Given the description of an element on the screen output the (x, y) to click on. 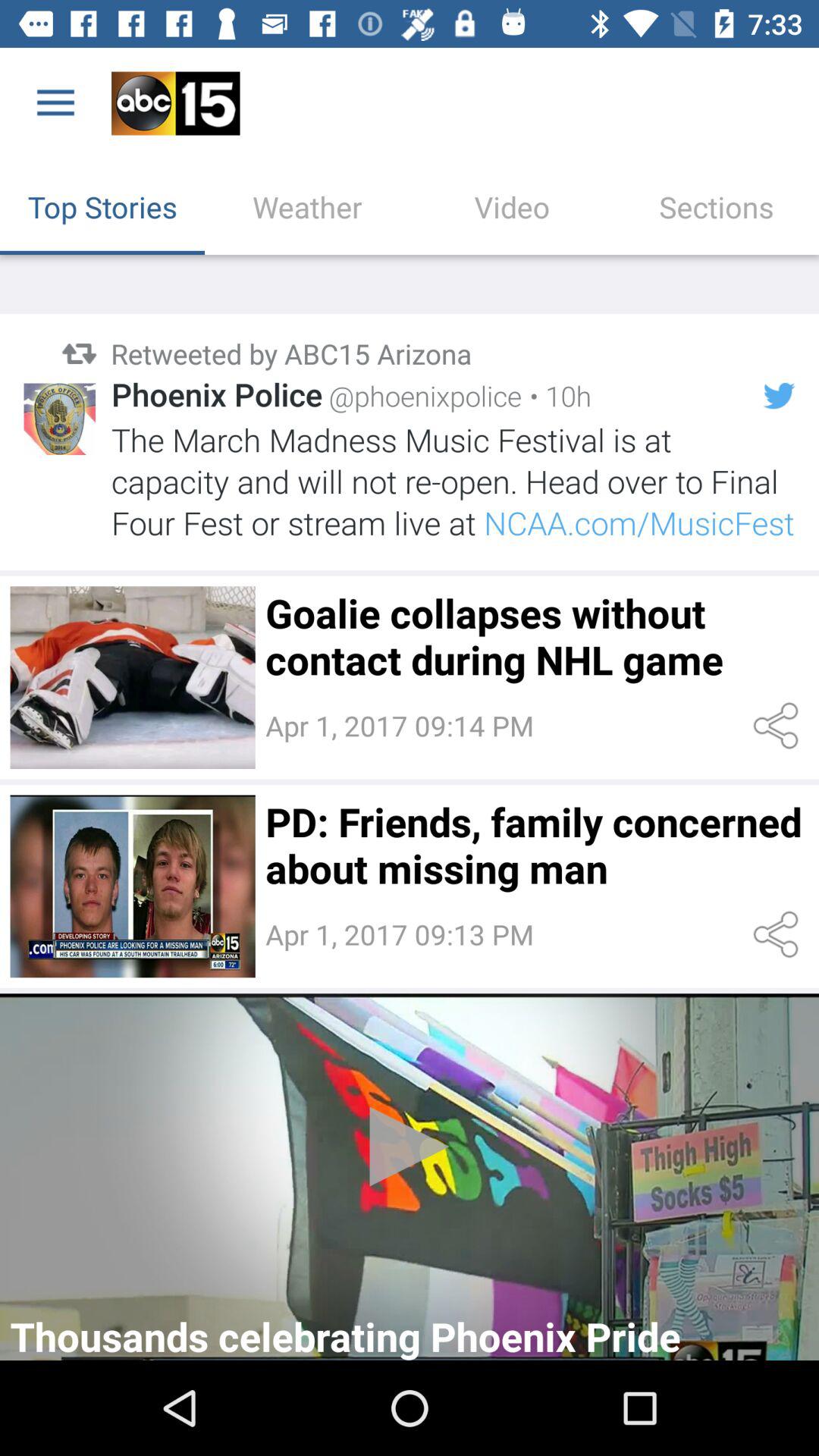
share the article (778, 725)
